Given the description of an element on the screen output the (x, y) to click on. 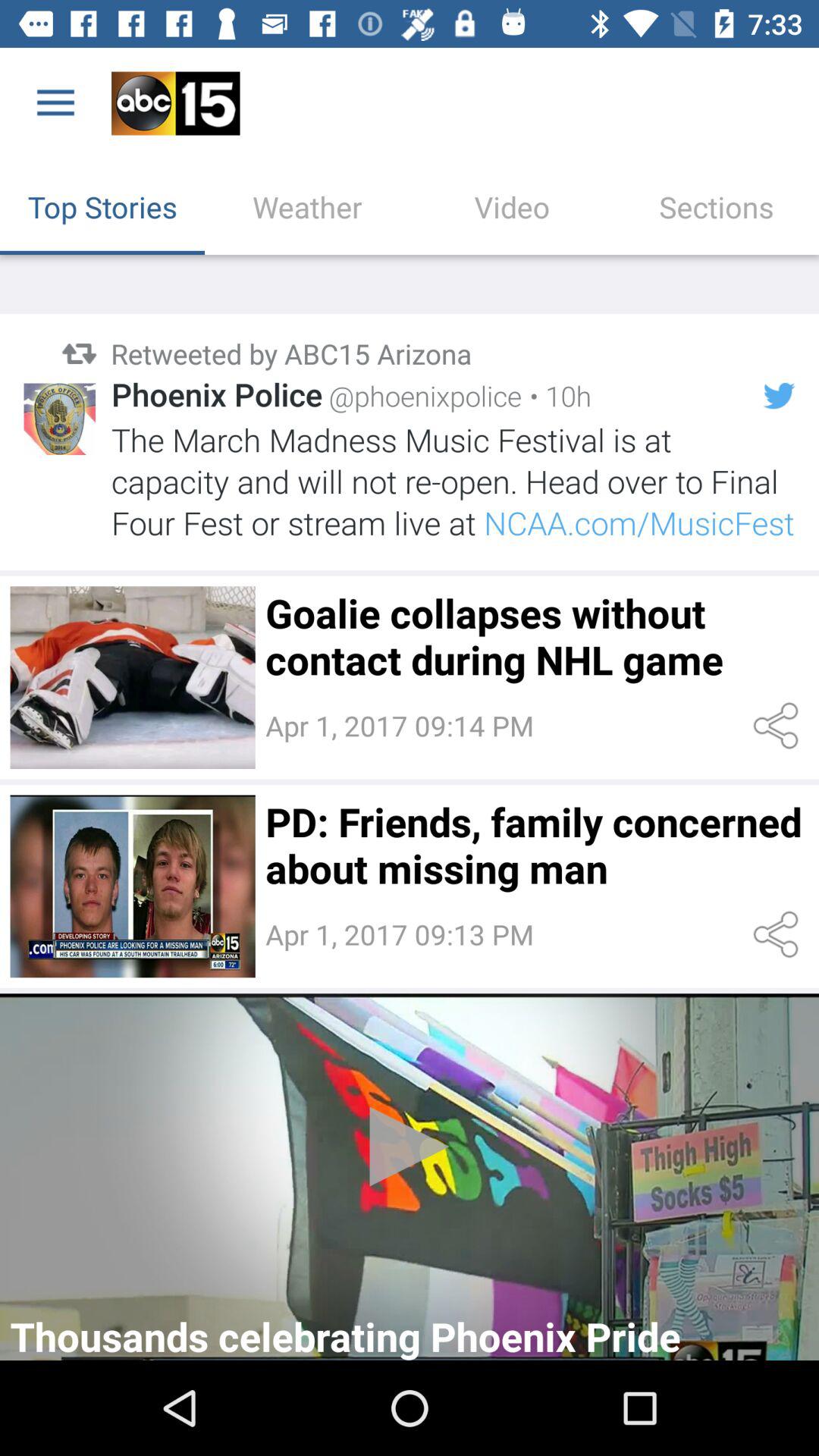
share the article (778, 725)
